Given the description of an element on the screen output the (x, y) to click on. 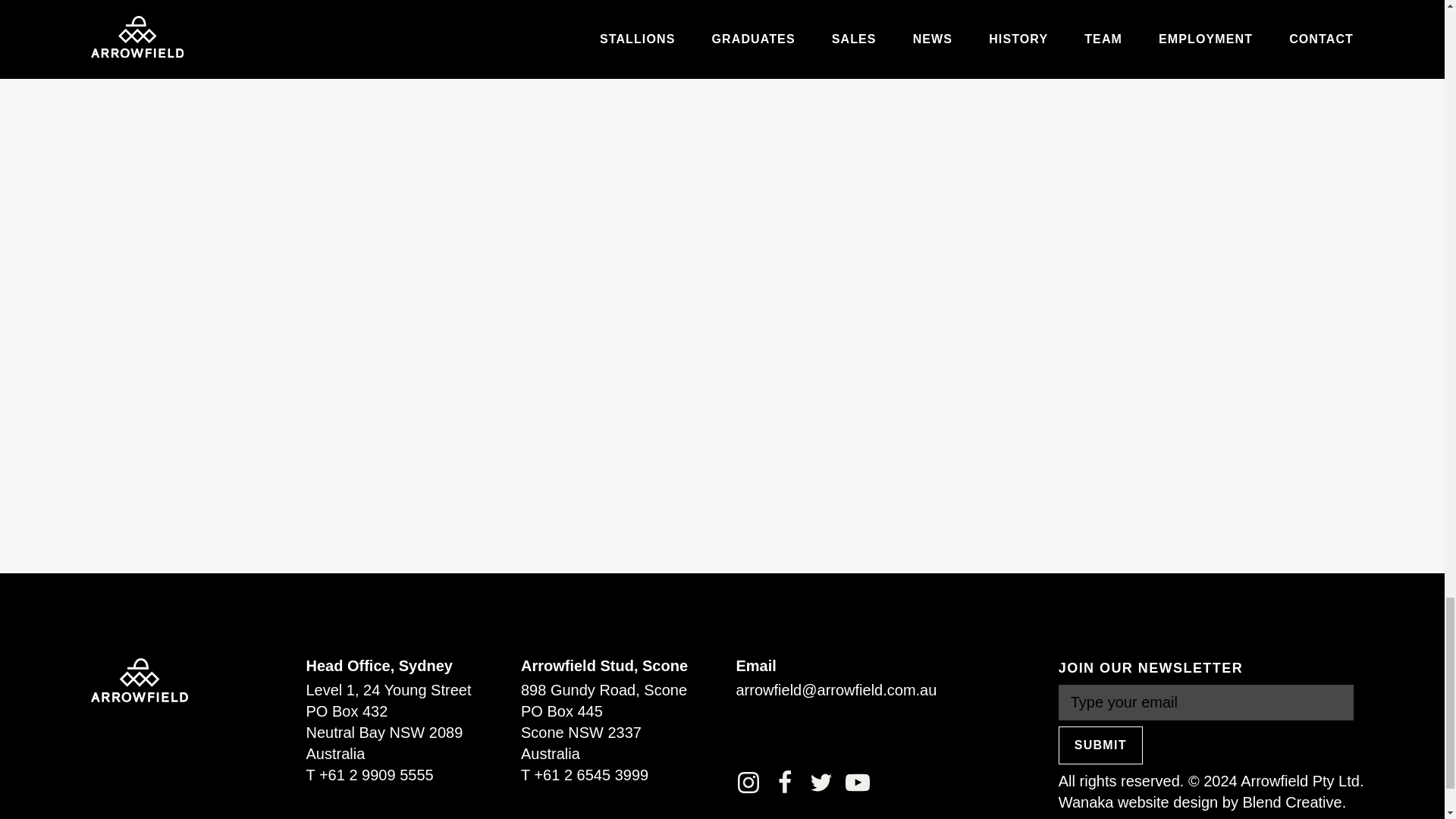
SUBMIT (1100, 745)
Arrowfield (138, 679)
Return to the homepage (138, 679)
Arrowfield (138, 679)
Wanaka website design by Blend Creative. (1201, 801)
